Given the description of an element on the screen output the (x, y) to click on. 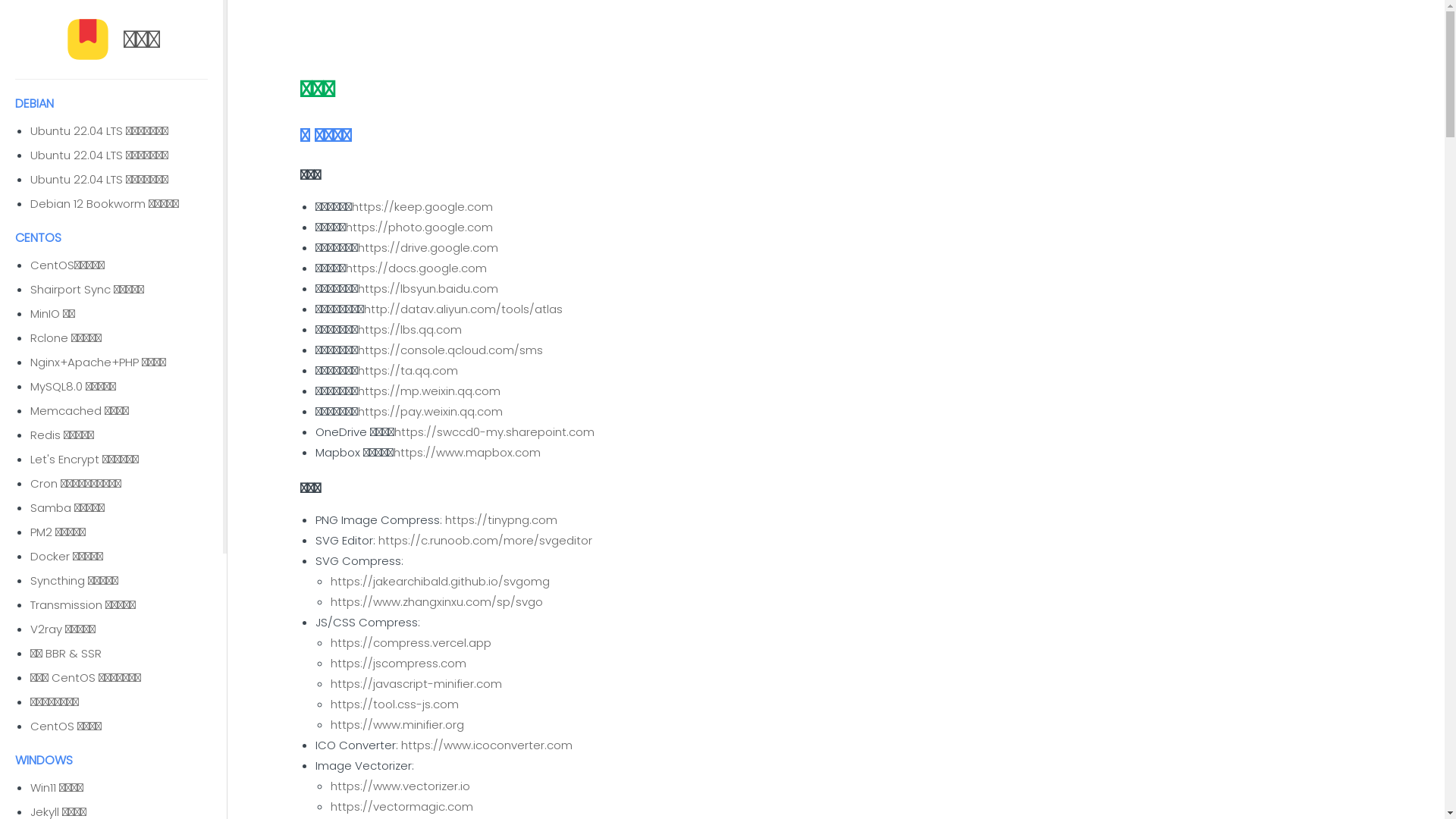
http://datav.aliyun.com/tools/atlas Element type: text (463, 308)
https://photo.google.com Element type: text (418, 227)
https://keep.google.com Element type: text (421, 206)
https://jakearchibald.github.io/svgomg Element type: text (439, 581)
https://www.vectorizer.io Element type: text (400, 785)
https://docs.google.com Element type: text (415, 268)
https://www.minifier.org Element type: text (397, 724)
https://tool.css-js.com Element type: text (394, 704)
https://www.mapbox.com Element type: text (466, 452)
https://www.icoconverter.com Element type: text (486, 745)
https://console.qcloud.com/sms Element type: text (449, 349)
https://swccd0-my.sharepoint.com Element type: text (494, 431)
https://mp.weixin.qq.com Element type: text (428, 390)
https://jscompress.com Element type: text (398, 663)
https://lbs.qq.com Element type: text (409, 329)
https://lbsyun.baidu.com Element type: text (427, 288)
https://compress.vercel.app Element type: text (410, 642)
https://tinypng.com Element type: text (501, 519)
https://www.zhangxinxu.com/sp/svgo Element type: text (436, 601)
https://javascript-minifier.com Element type: text (416, 683)
https://c.runoob.com/more/svgeditor Element type: text (485, 540)
https://vectormagic.com Element type: text (401, 806)
https://pay.weixin.qq.com Element type: text (429, 411)
https://ta.qq.com Element type: text (407, 370)
https://drive.google.com Element type: text (427, 247)
